Given the description of an element on the screen output the (x, y) to click on. 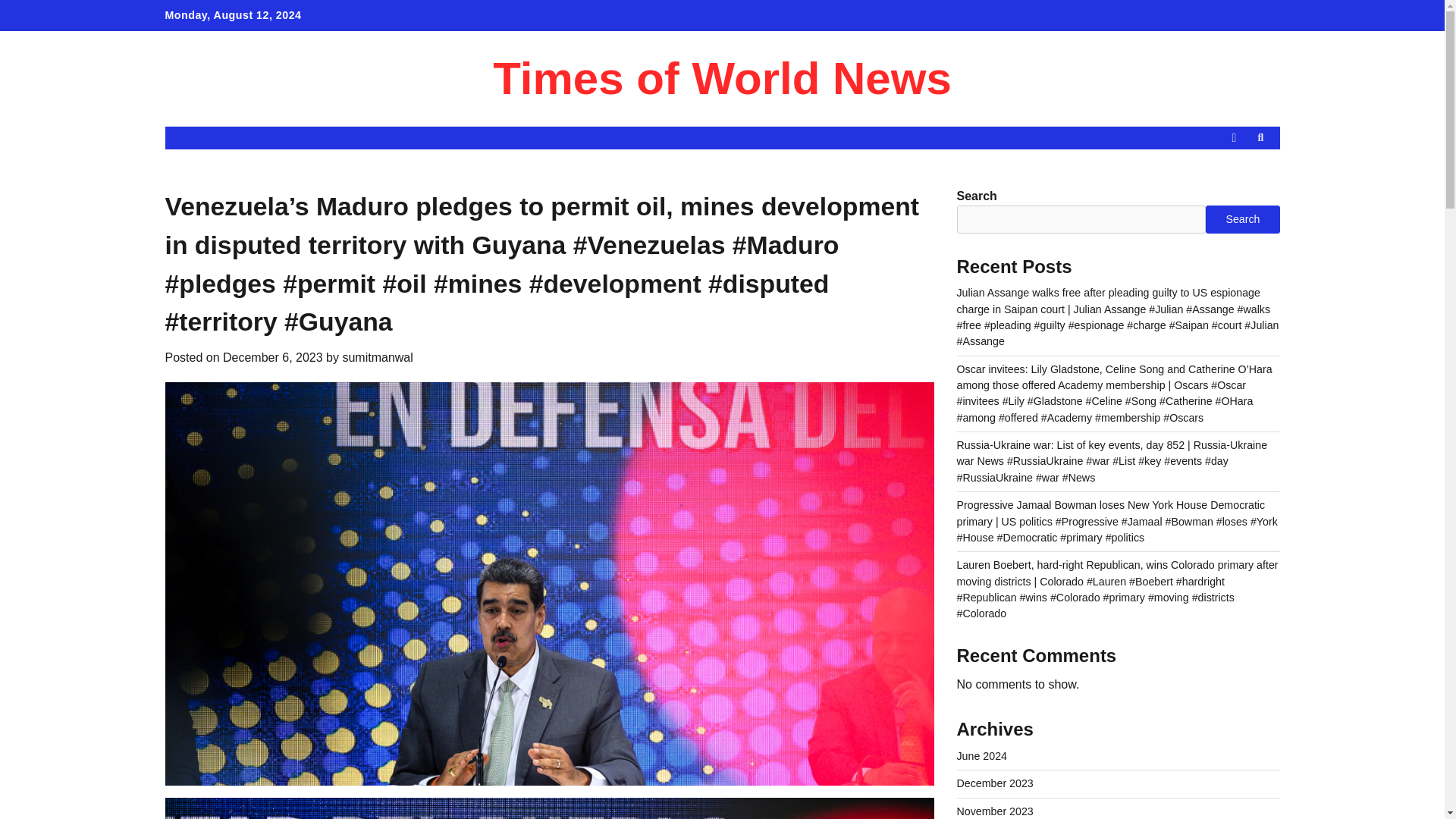
December 6, 2023 (272, 357)
November 2023 (994, 811)
December 2023 (994, 783)
Search (1242, 218)
Search (1260, 137)
June 2024 (981, 756)
Search (1232, 173)
View Random Post (1233, 137)
sumitmanwal (377, 357)
Times of World News (722, 78)
